Given the description of an element on the screen output the (x, y) to click on. 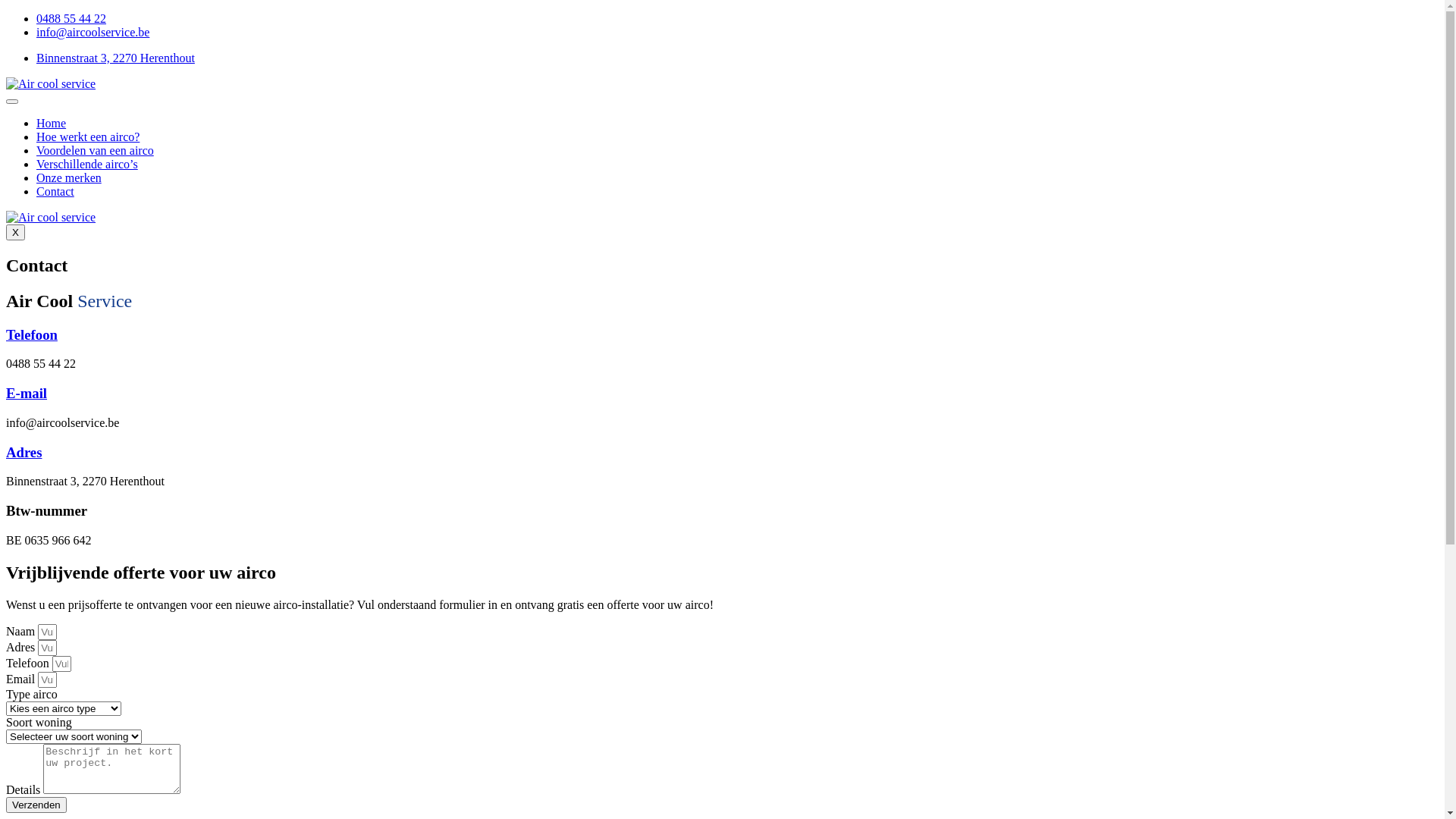
info@aircoolservice.be Element type: text (92, 31)
Home Element type: text (50, 122)
Adres Element type: text (23, 452)
E-mail Element type: text (26, 393)
Onze merken Element type: text (68, 177)
Verzenden Element type: text (36, 804)
0488 55 44 22 Element type: text (71, 18)
Contact Element type: text (55, 191)
Hoe werkt een airco? Element type: text (87, 136)
Voordelen van een airco Element type: text (94, 150)
Telefoon Element type: text (31, 334)
Binnenstraat 3, 2270 Herenthout Element type: text (115, 57)
X Element type: text (15, 232)
